Given the description of an element on the screen output the (x, y) to click on. 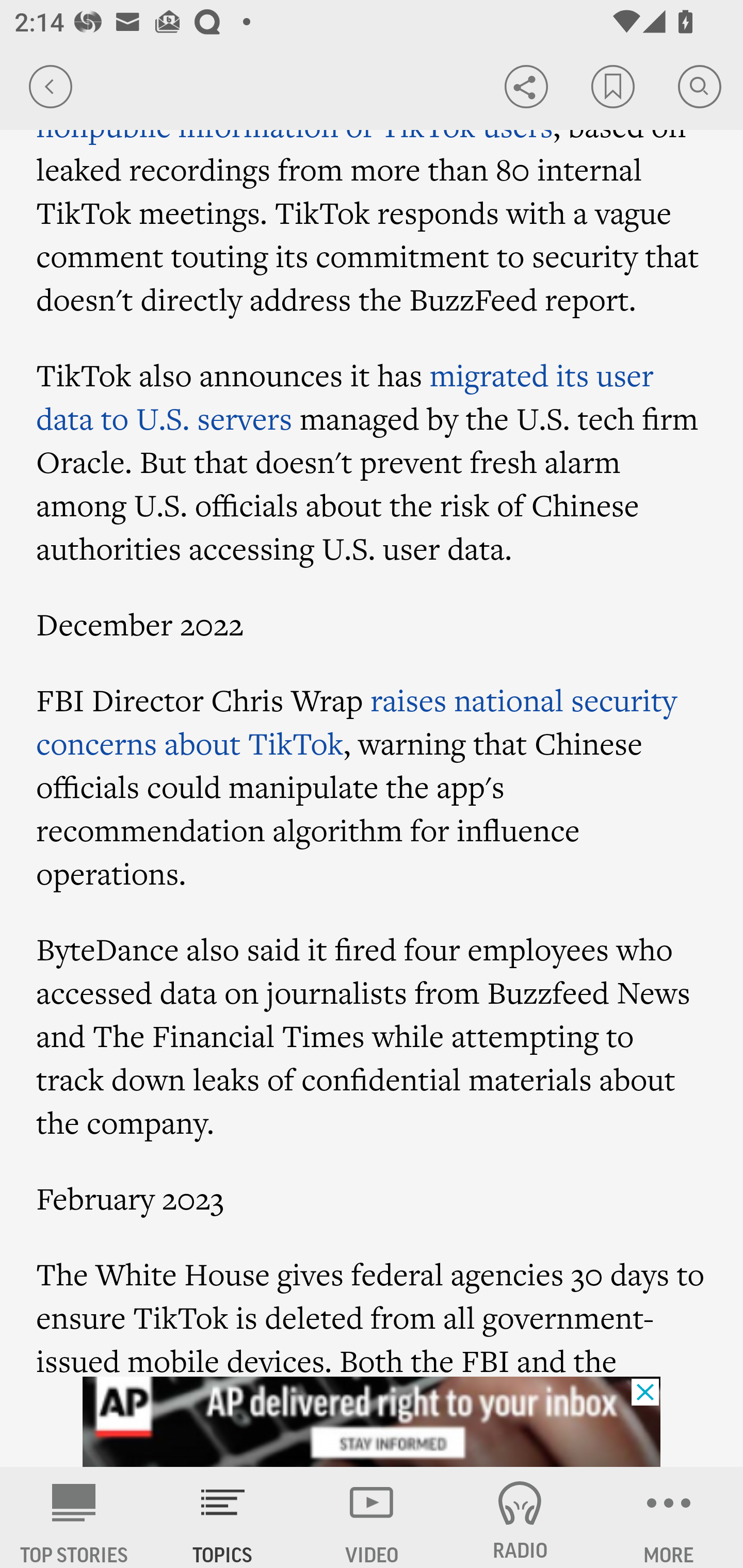
migrated its user data to U.S. servers (345, 395)
raises national security concerns about TikTok (356, 721)
AP News TOP STORIES (74, 1517)
TOPICS (222, 1517)
VIDEO (371, 1517)
RADIO (519, 1517)
MORE (668, 1517)
